Given the description of an element on the screen output the (x, y) to click on. 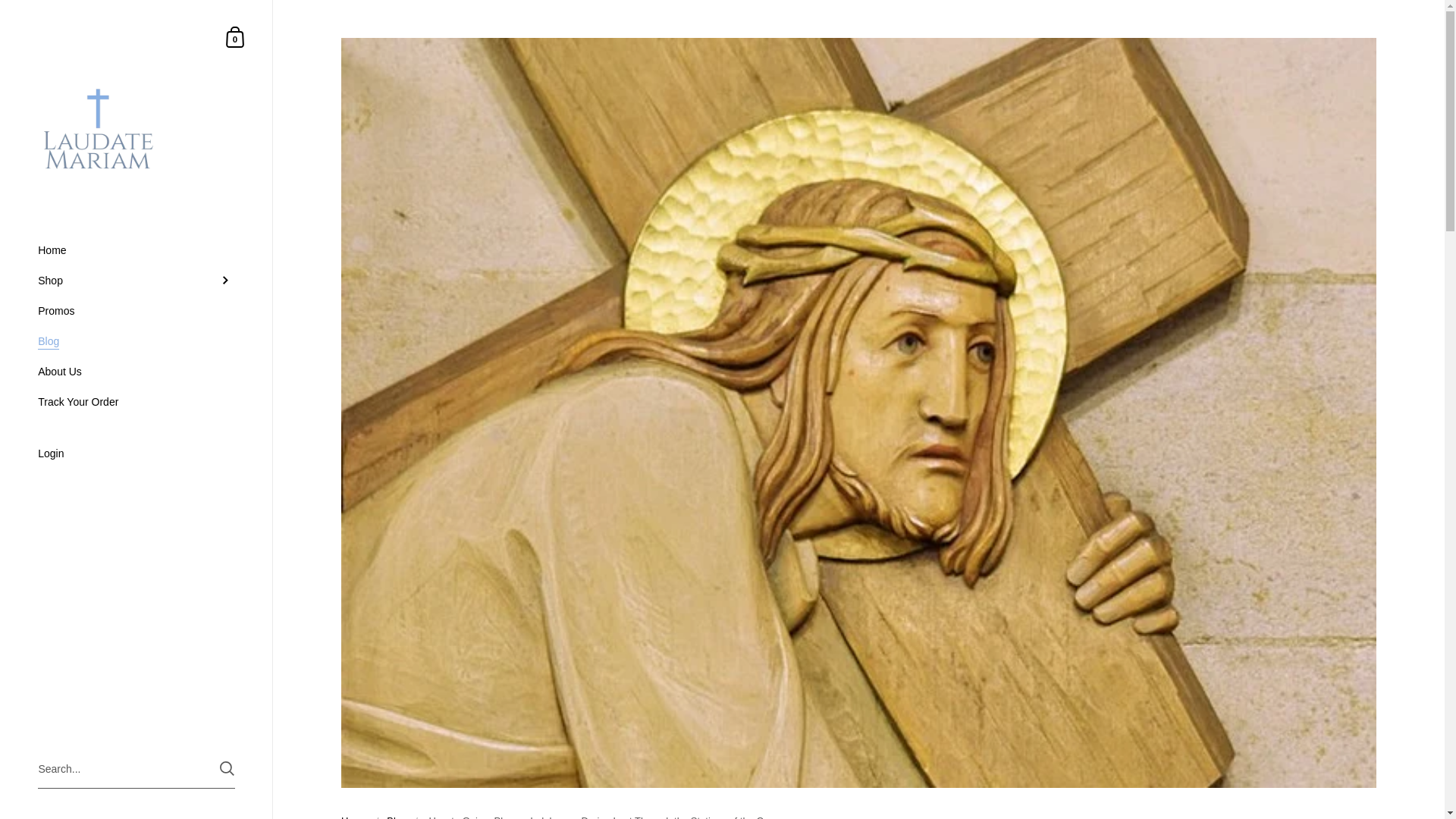
Home (136, 250)
About Us (136, 371)
Blog (396, 816)
Home (354, 816)
Shopping Cart (235, 35)
Shop (136, 280)
Login (235, 35)
Blog (136, 454)
